Given the description of an element on the screen output the (x, y) to click on. 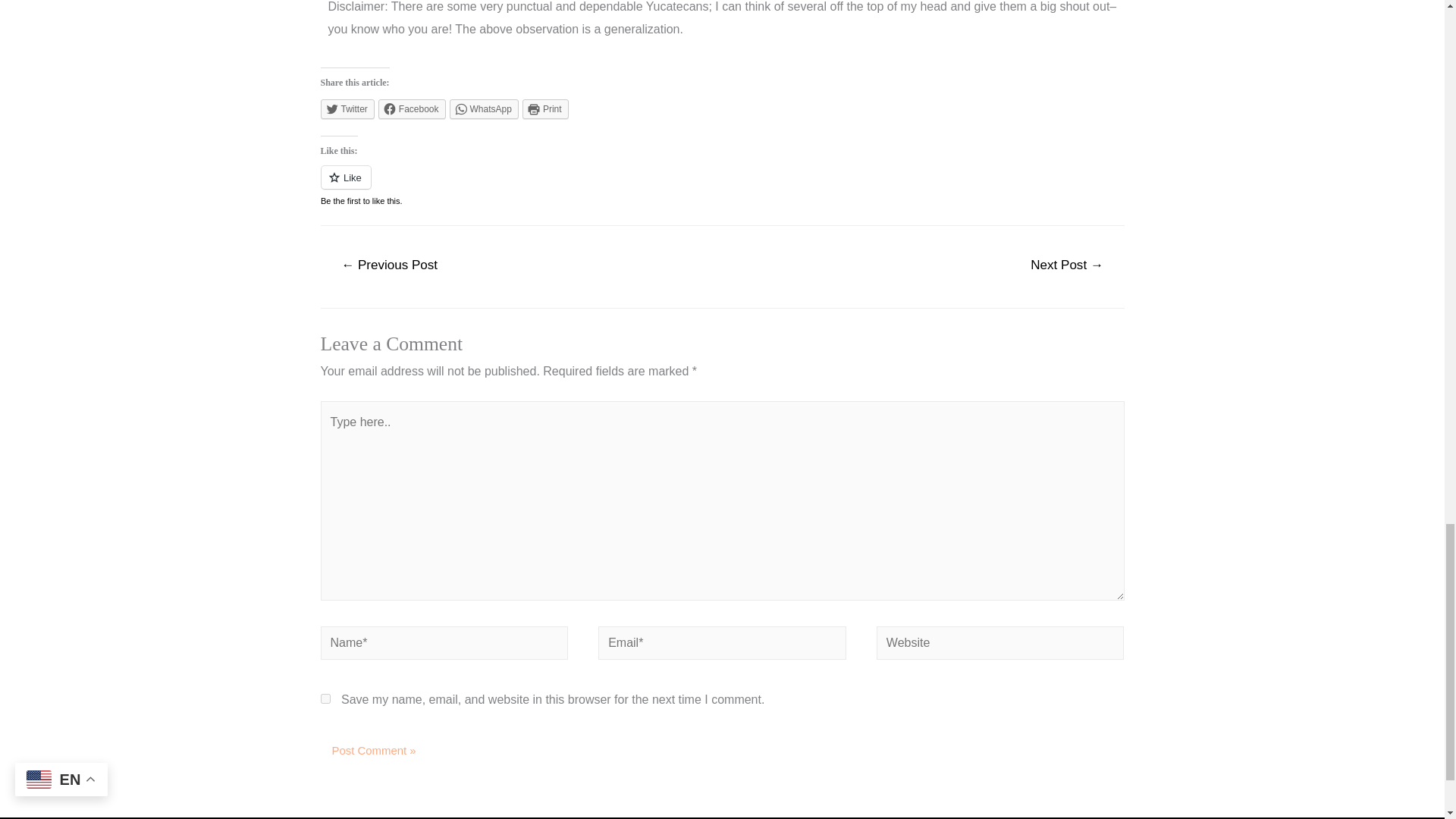
Click to share on Twitter (347, 108)
Facebook (411, 108)
Click to print (545, 108)
Click to share on WhatsApp (483, 108)
Print (545, 108)
WhatsApp (483, 108)
Like or Reblog (722, 186)
yes (325, 698)
Twitter (347, 108)
Click to share on Facebook (411, 108)
